Given the description of an element on the screen output the (x, y) to click on. 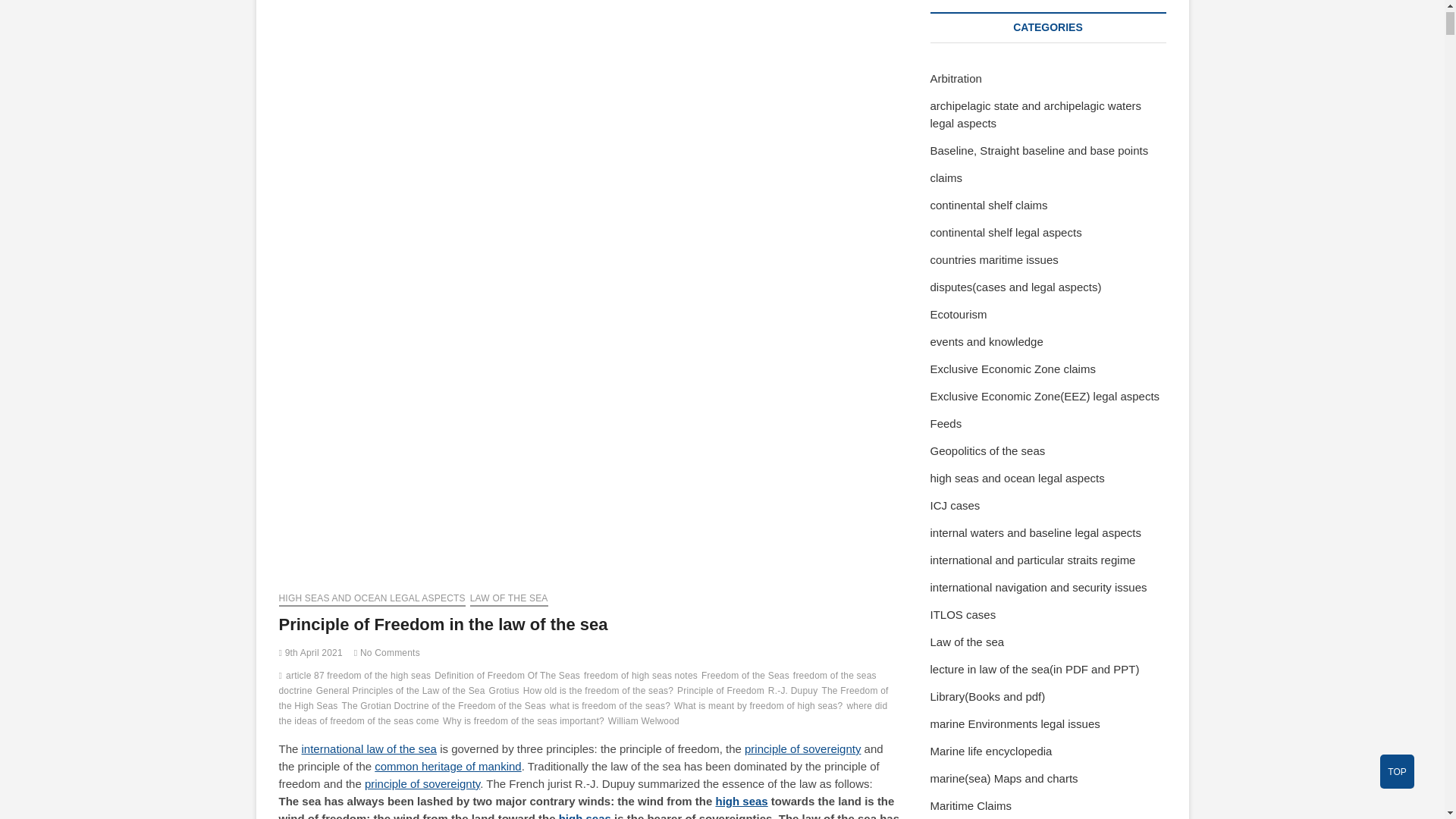
Why is freedom of the seas important? (525, 722)
The Grotian Doctrine of the Freedom of the Seas (445, 707)
Principle of Sovereignty on the law of the sea (422, 783)
international law of the sea (368, 748)
what is freedom of the seas? (612, 707)
Principle of Sovereignty on the law of the sea (802, 748)
Principle of Freedom (722, 692)
The Freedom of the High Seas (583, 699)
How old is the freedom of the seas? (599, 692)
